Given the description of an element on the screen output the (x, y) to click on. 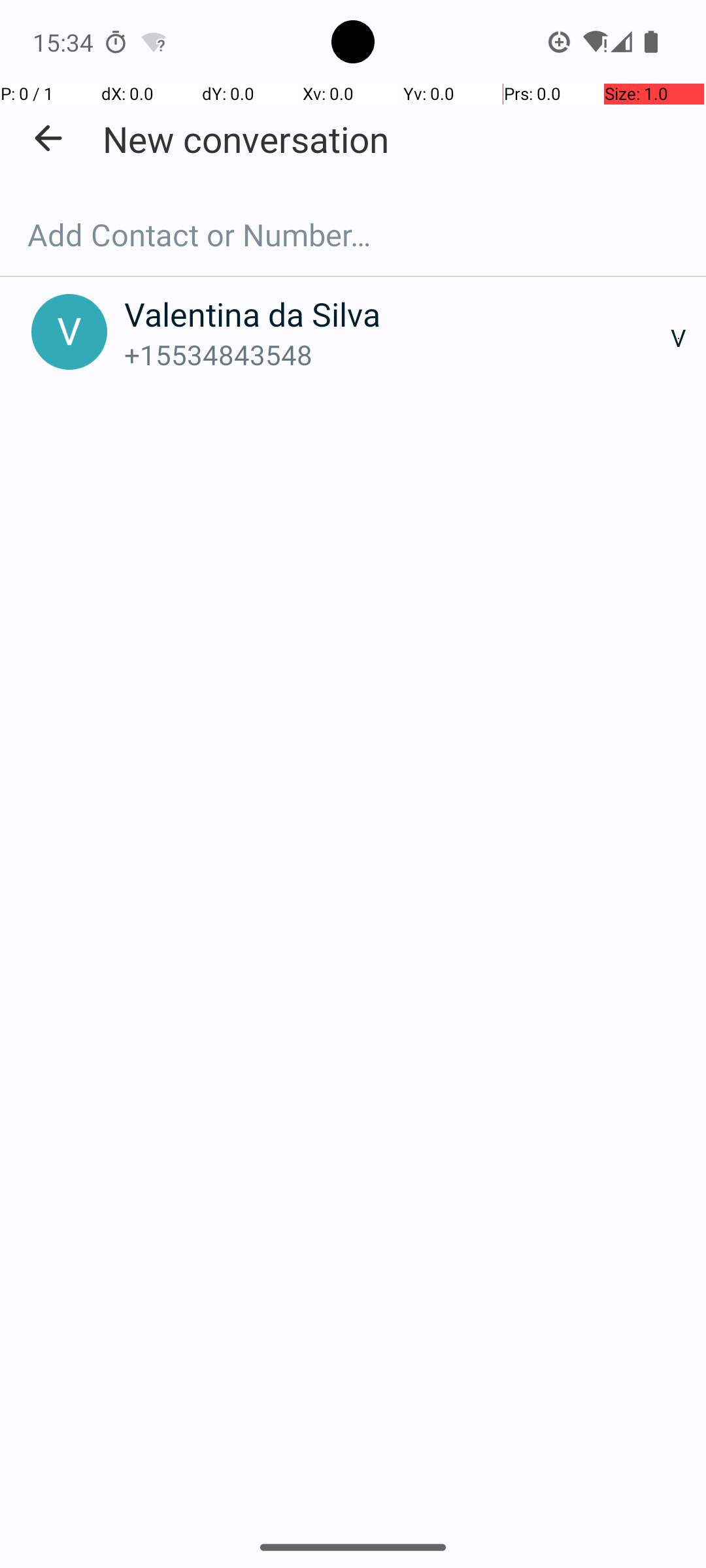
Valentina da Silva Element type: android.widget.TextView (397, 313)
+15534843548 Element type: android.widget.TextView (397, 354)
